Given the description of an element on the screen output the (x, y) to click on. 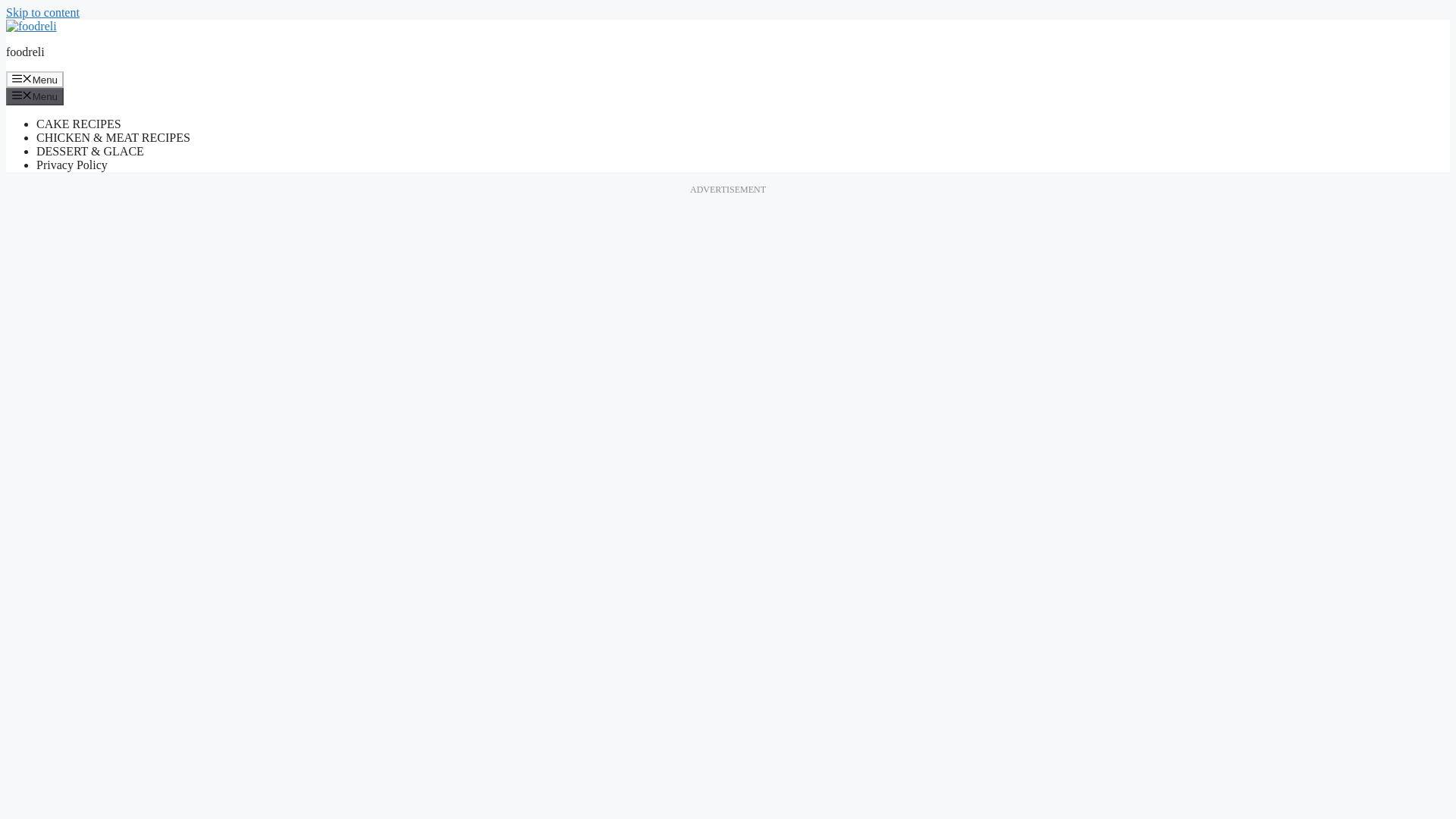
foodreli (25, 51)
CAKE RECIPES (78, 123)
Privacy Policy (71, 164)
Skip to content (42, 11)
Menu (34, 79)
Menu (34, 95)
Skip to content (42, 11)
